Given the description of an element on the screen output the (x, y) to click on. 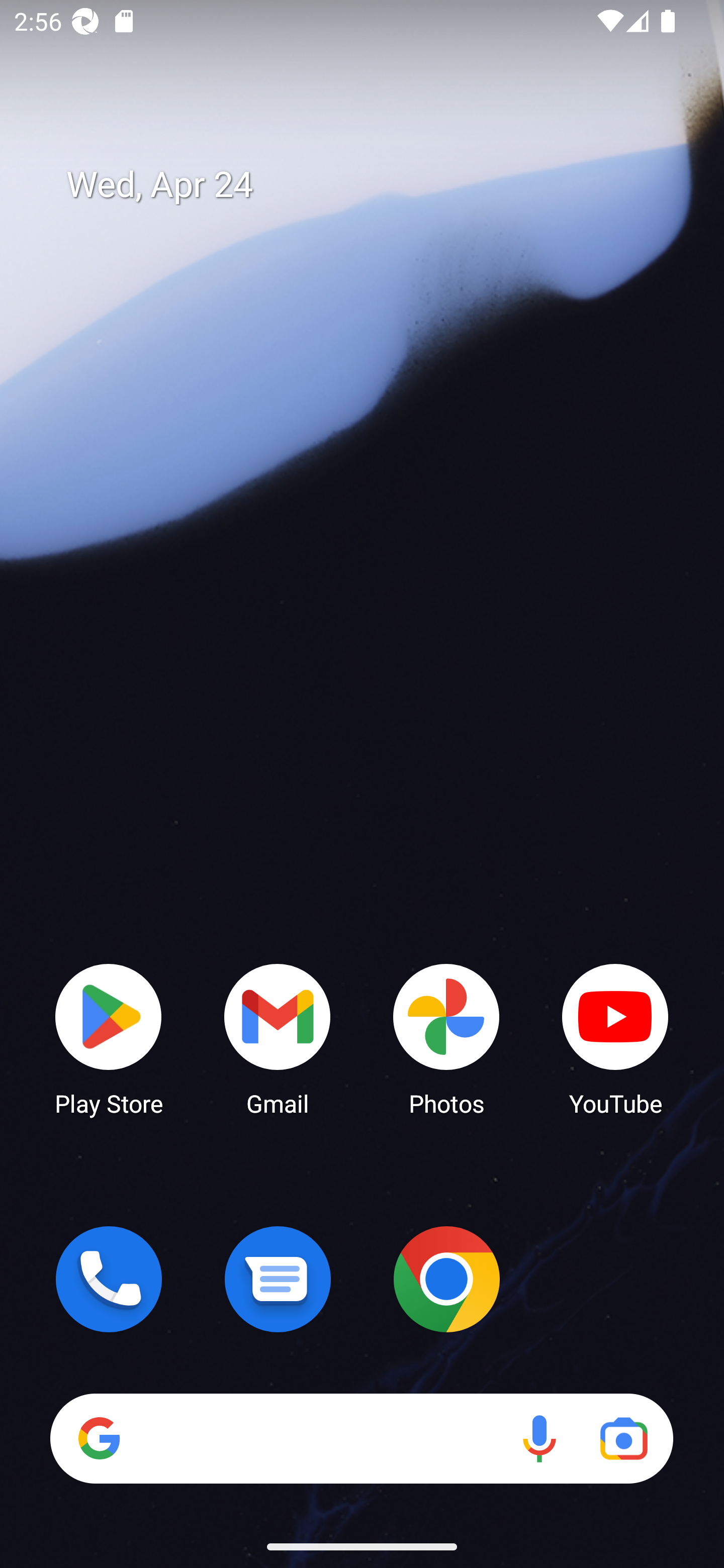
Wed, Apr 24 (375, 184)
Play Store (108, 1038)
Gmail (277, 1038)
Photos (445, 1038)
YouTube (615, 1038)
Phone (108, 1279)
Messages (277, 1279)
Chrome (446, 1279)
Search Voice search Google Lens (361, 1438)
Voice search (539, 1438)
Google Lens (623, 1438)
